Given the description of an element on the screen output the (x, y) to click on. 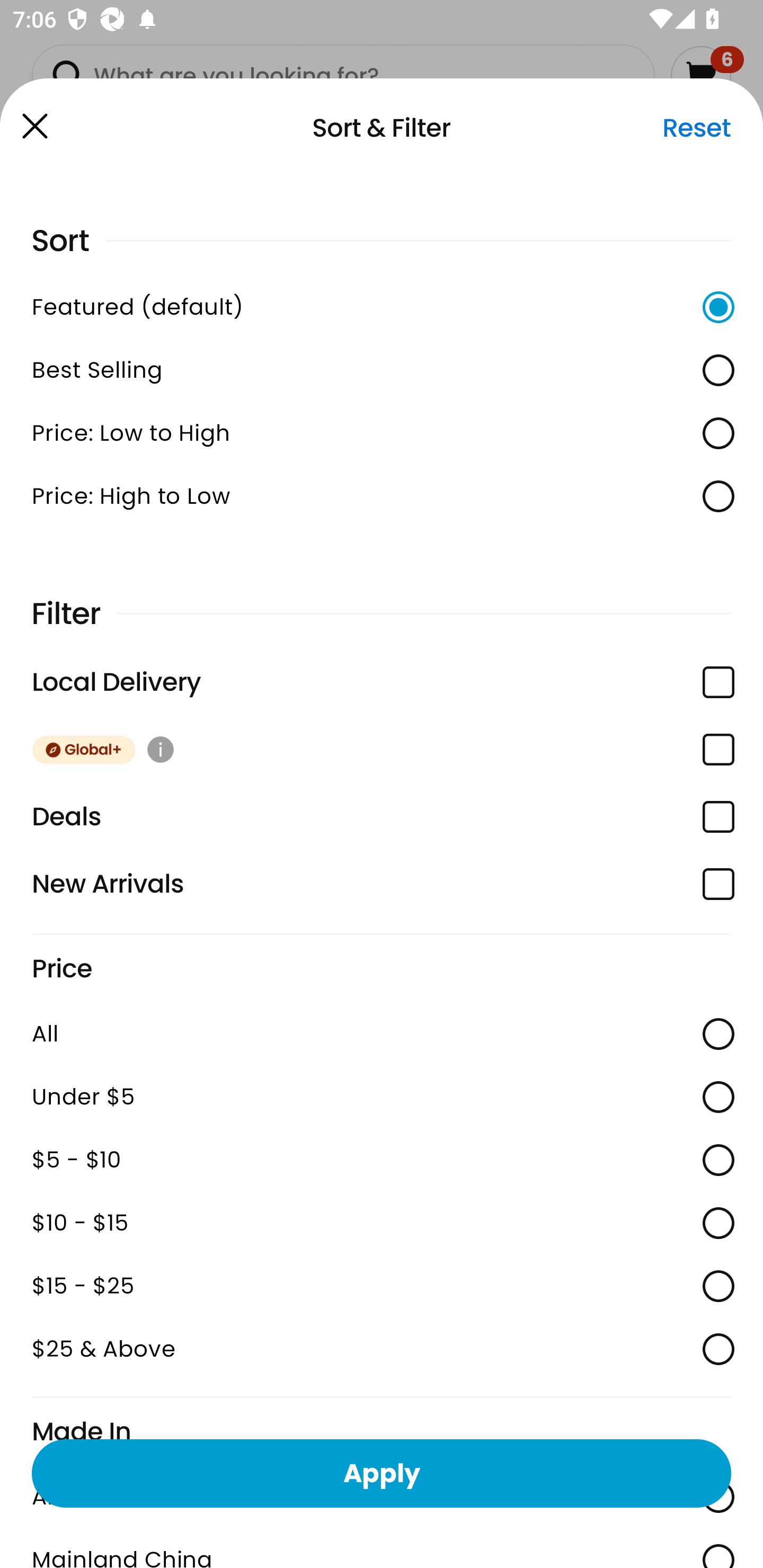
Reset (696, 127)
Apply (381, 1472)
